Given the description of an element on the screen output the (x, y) to click on. 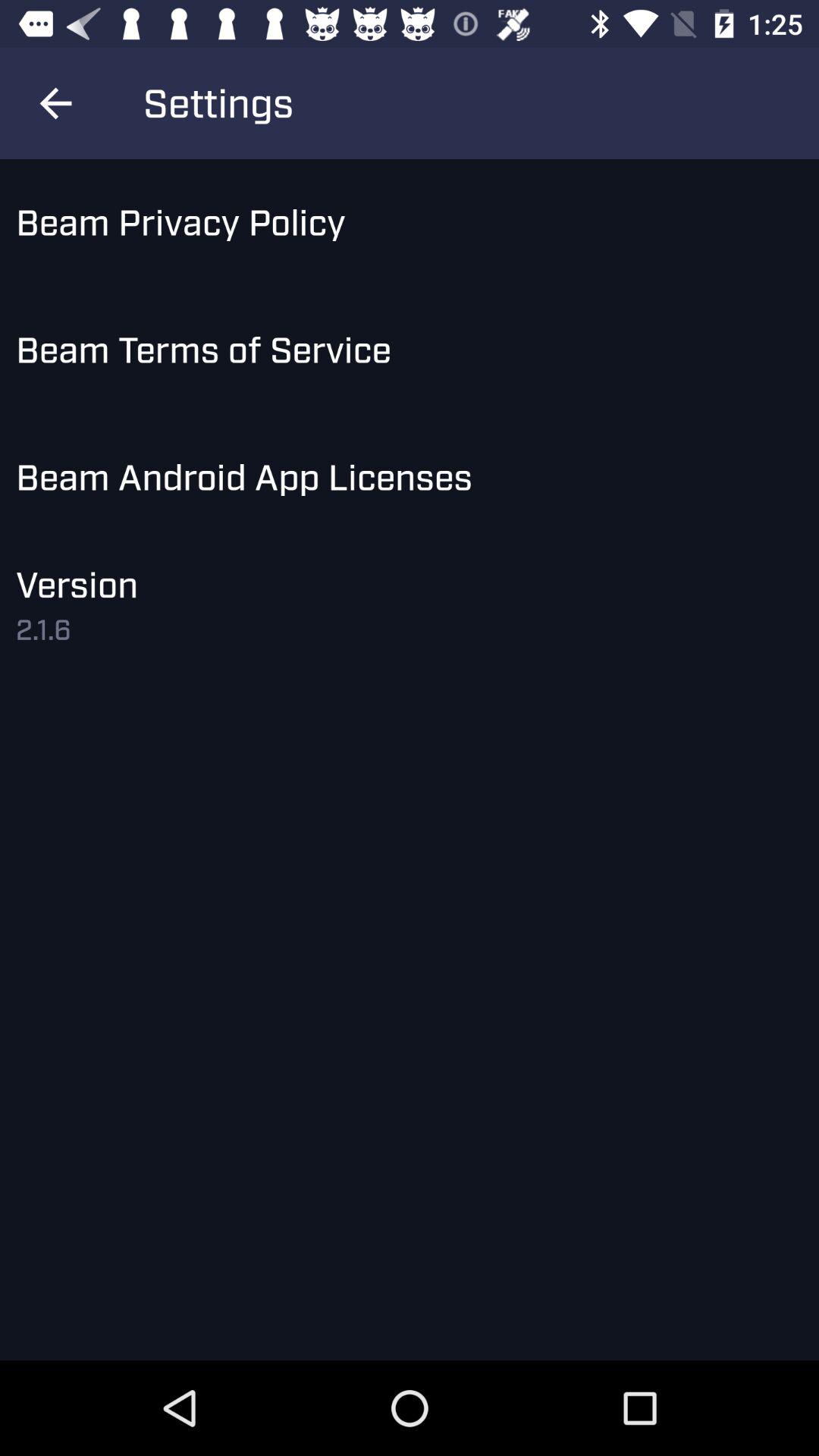
open the item to the left of settings item (55, 103)
